Given the description of an element on the screen output the (x, y) to click on. 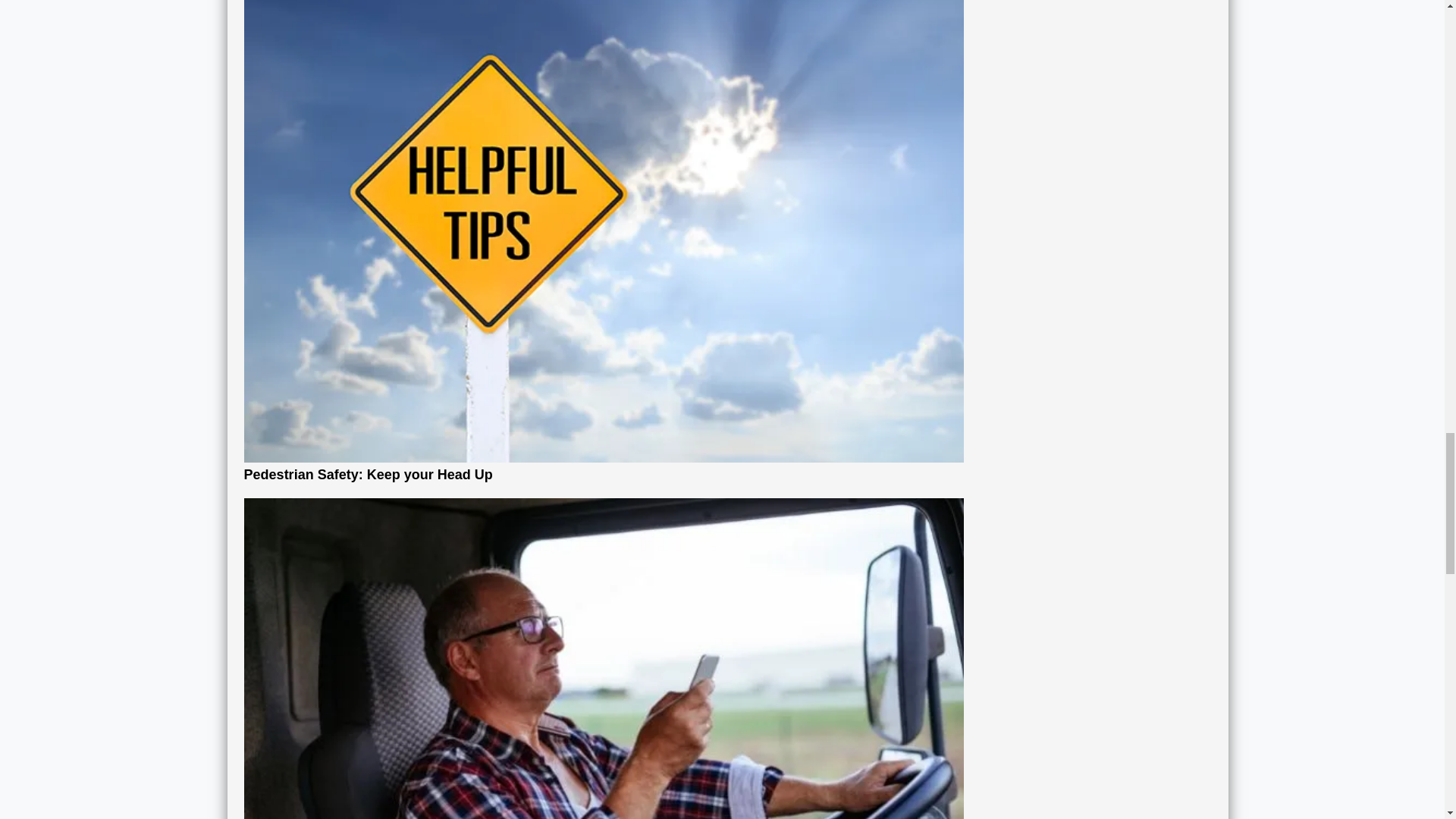
Top Causes of Distracted Driving for Truck Drivers (603, 774)
